Given the description of an element on the screen output the (x, y) to click on. 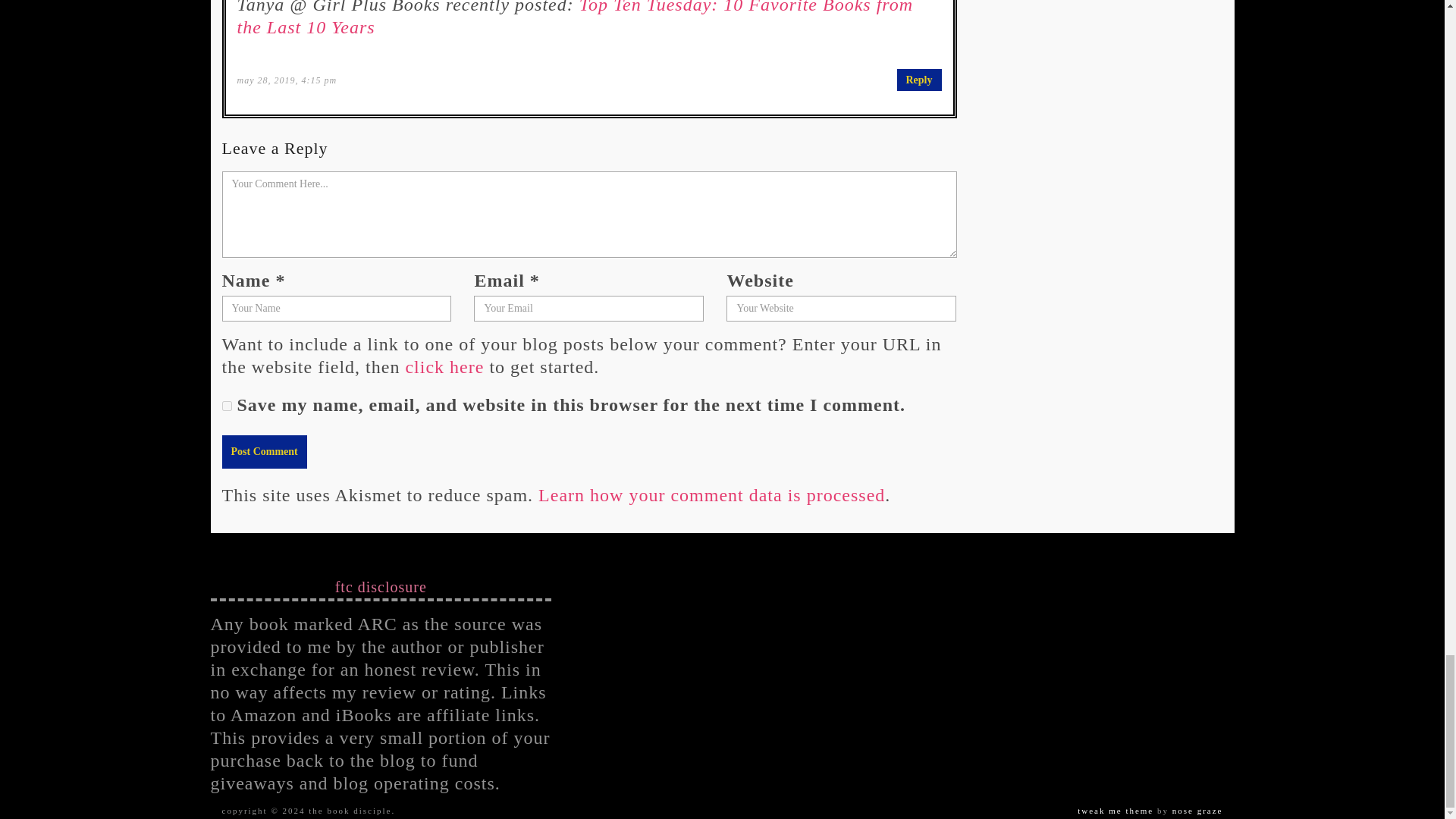
yes (226, 406)
Post Comment (263, 451)
